Given the description of an element on the screen output the (x, y) to click on. 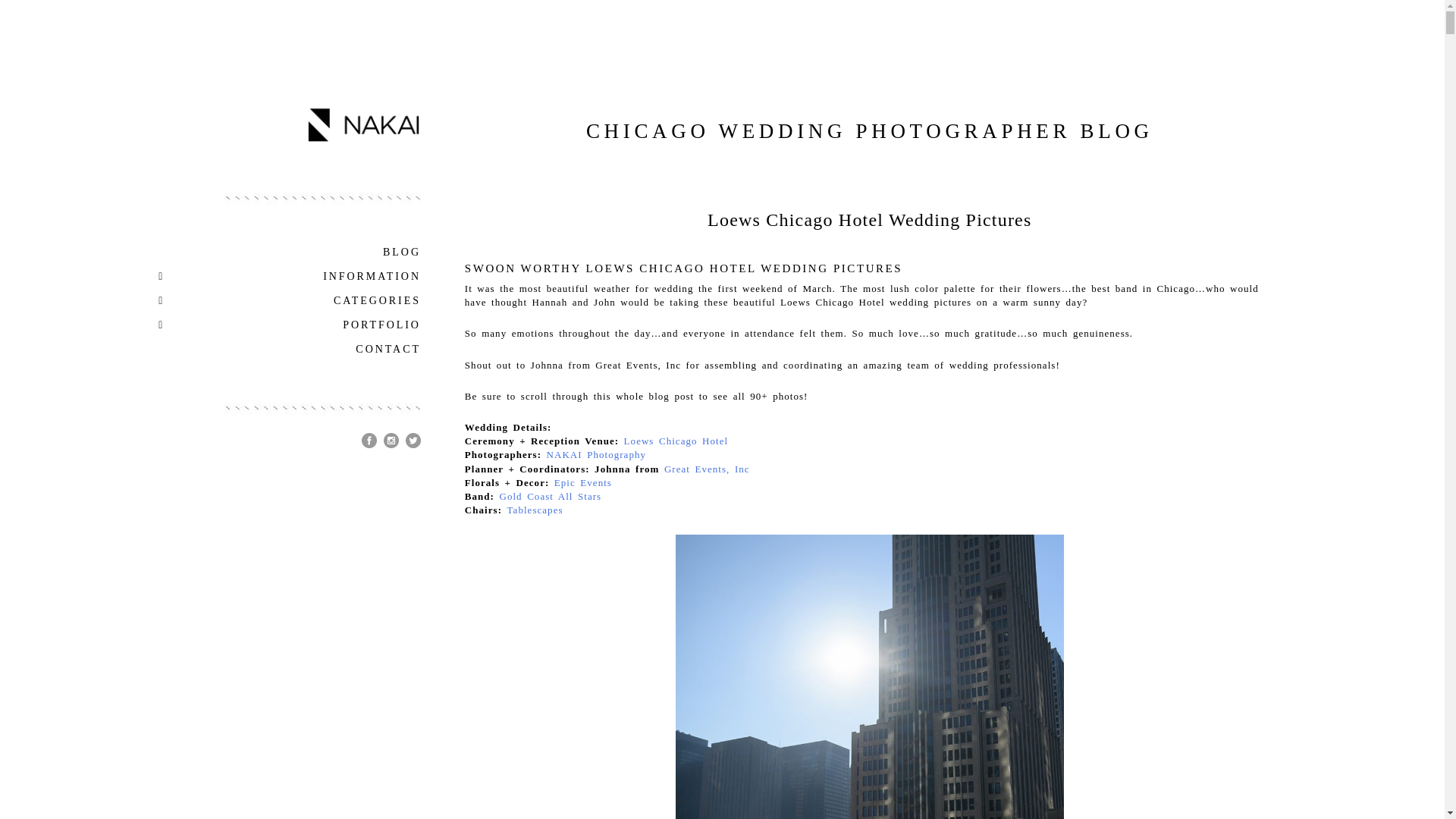
INFORMATION (276, 276)
BLOG (276, 252)
